Given the description of an element on the screen output the (x, y) to click on. 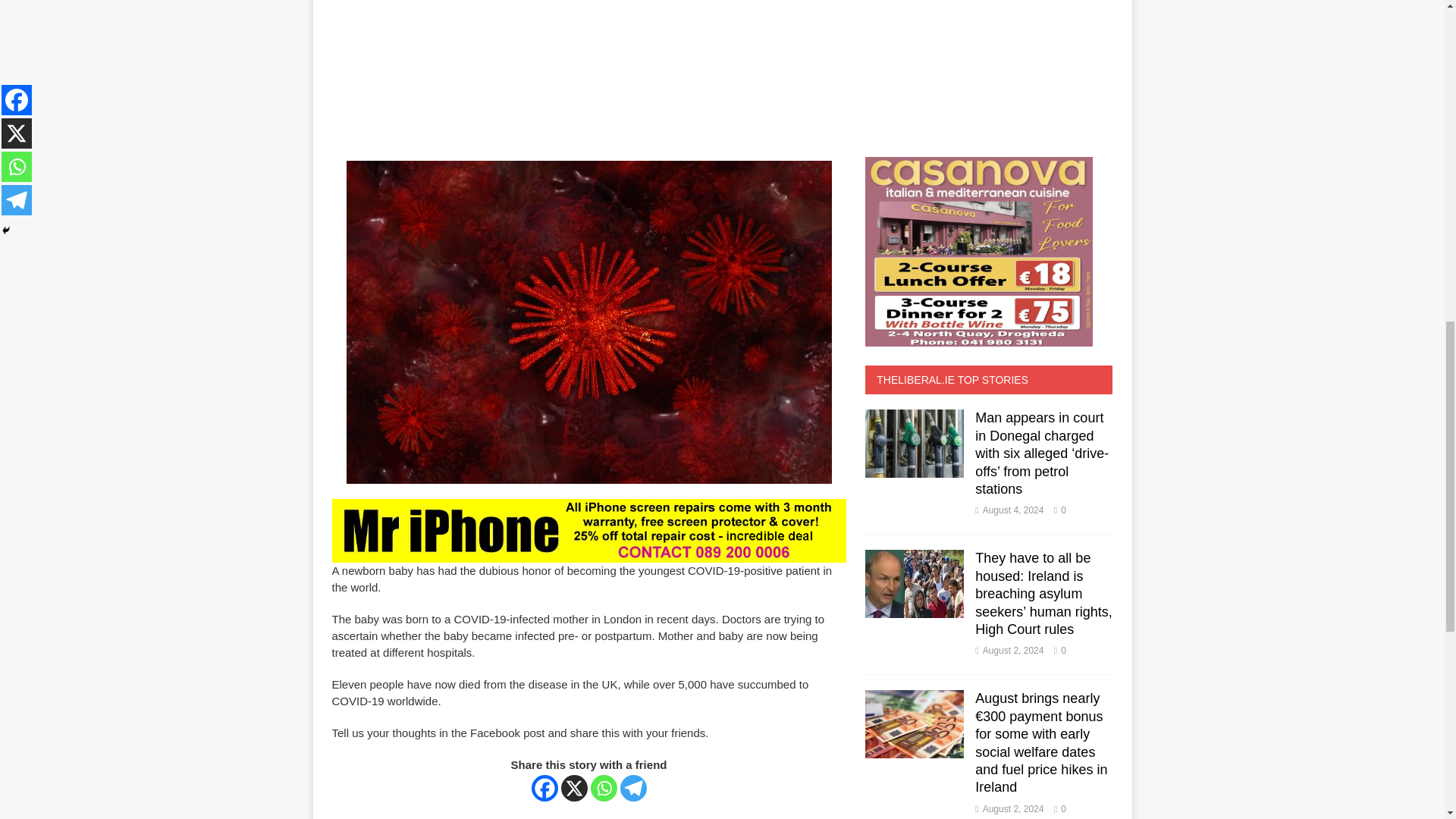
Telegram (633, 787)
Whatsapp (604, 787)
Facebook (544, 787)
Advertisement (453, 52)
X (574, 787)
